Given the description of an element on the screen output the (x, y) to click on. 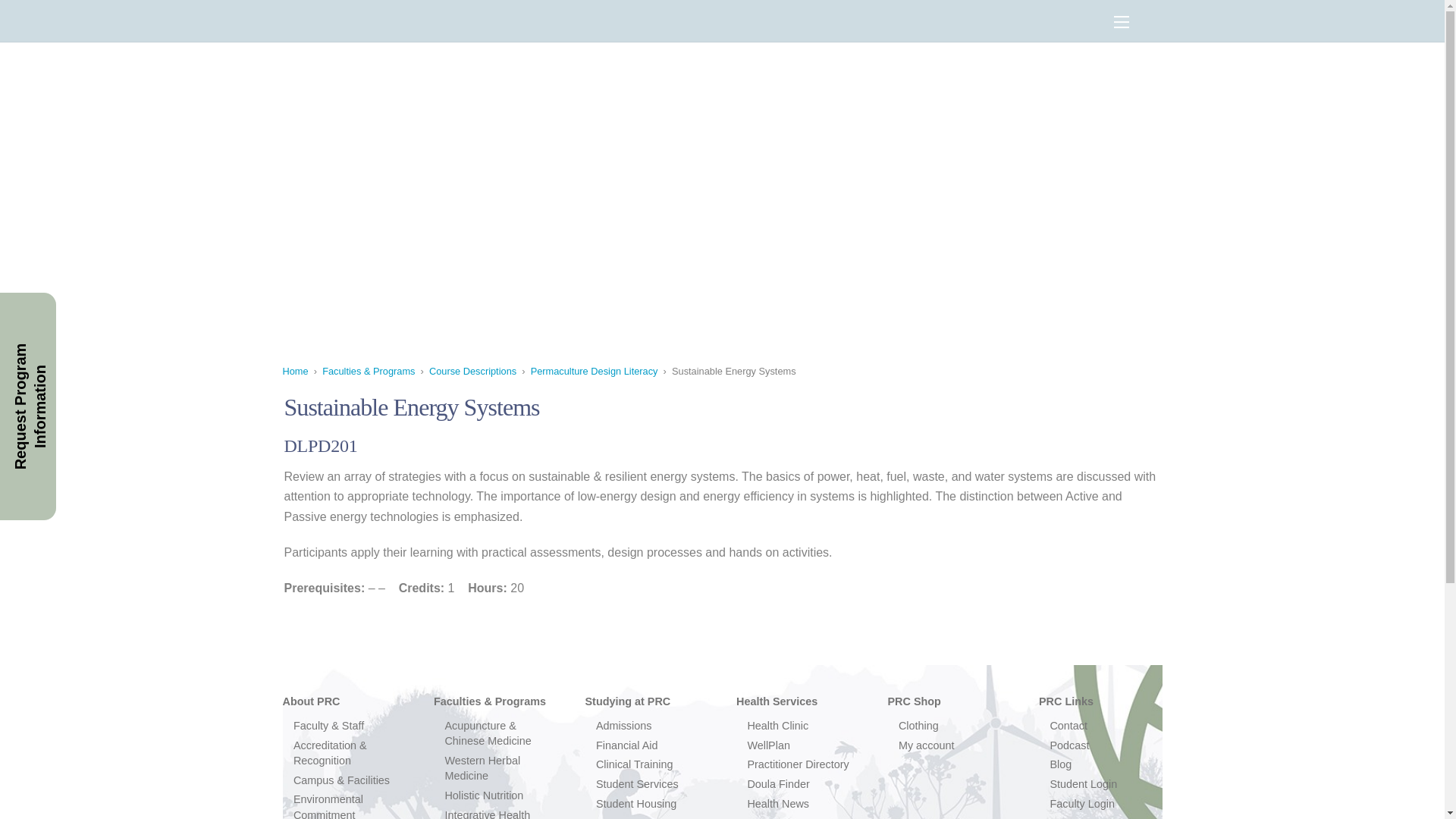
Go to Pacific Rim College. (294, 370)
Go to Course Descriptions. (472, 370)
